Given the description of an element on the screen output the (x, y) to click on. 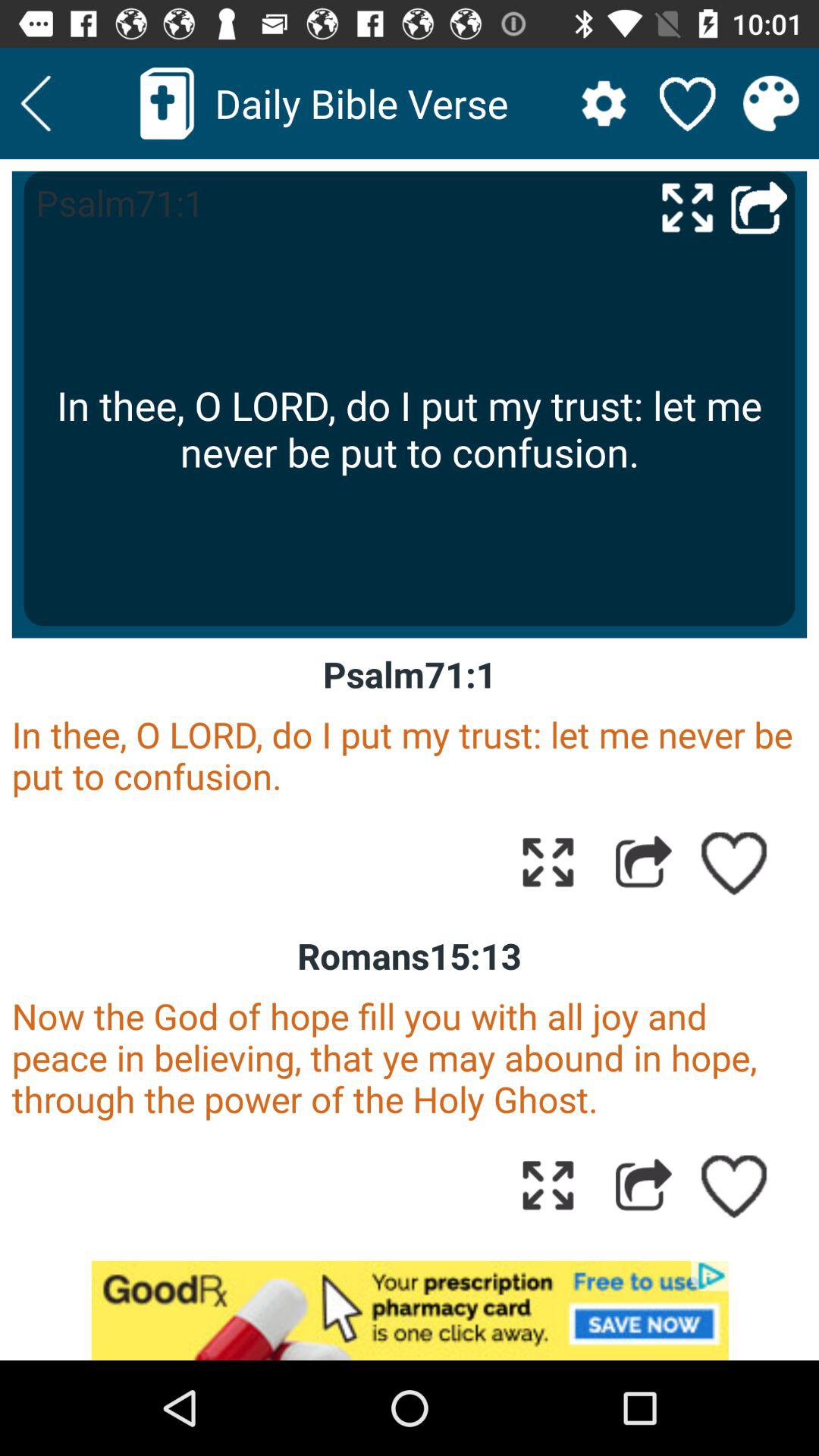
like this article (735, 1184)
